Given the description of an element on the screen output the (x, y) to click on. 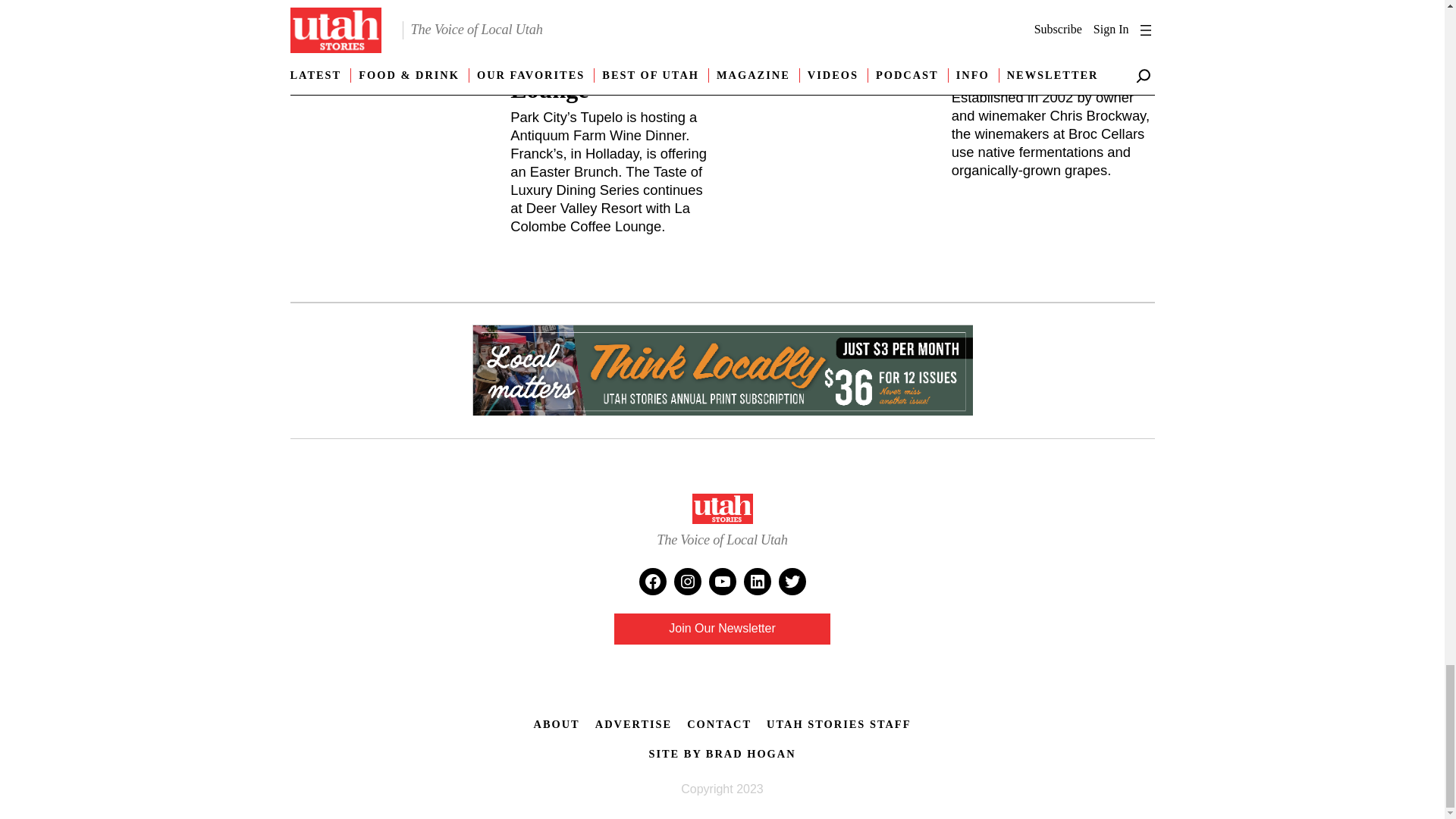
Subscription banner ad (721, 372)
